Given the description of an element on the screen output the (x, y) to click on. 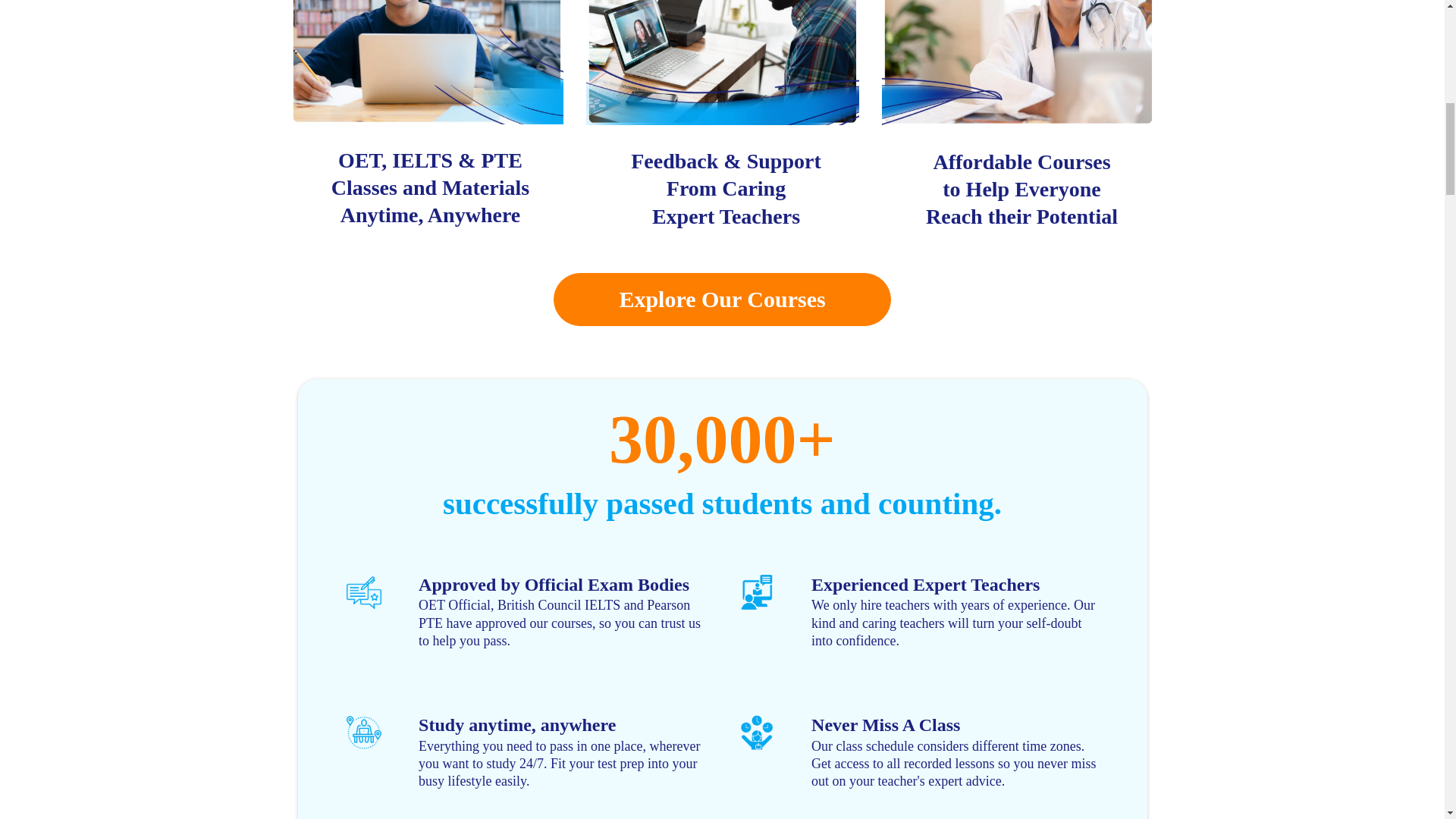
Explore Our Courses (721, 298)
